Given the description of an element on the screen output the (x, y) to click on. 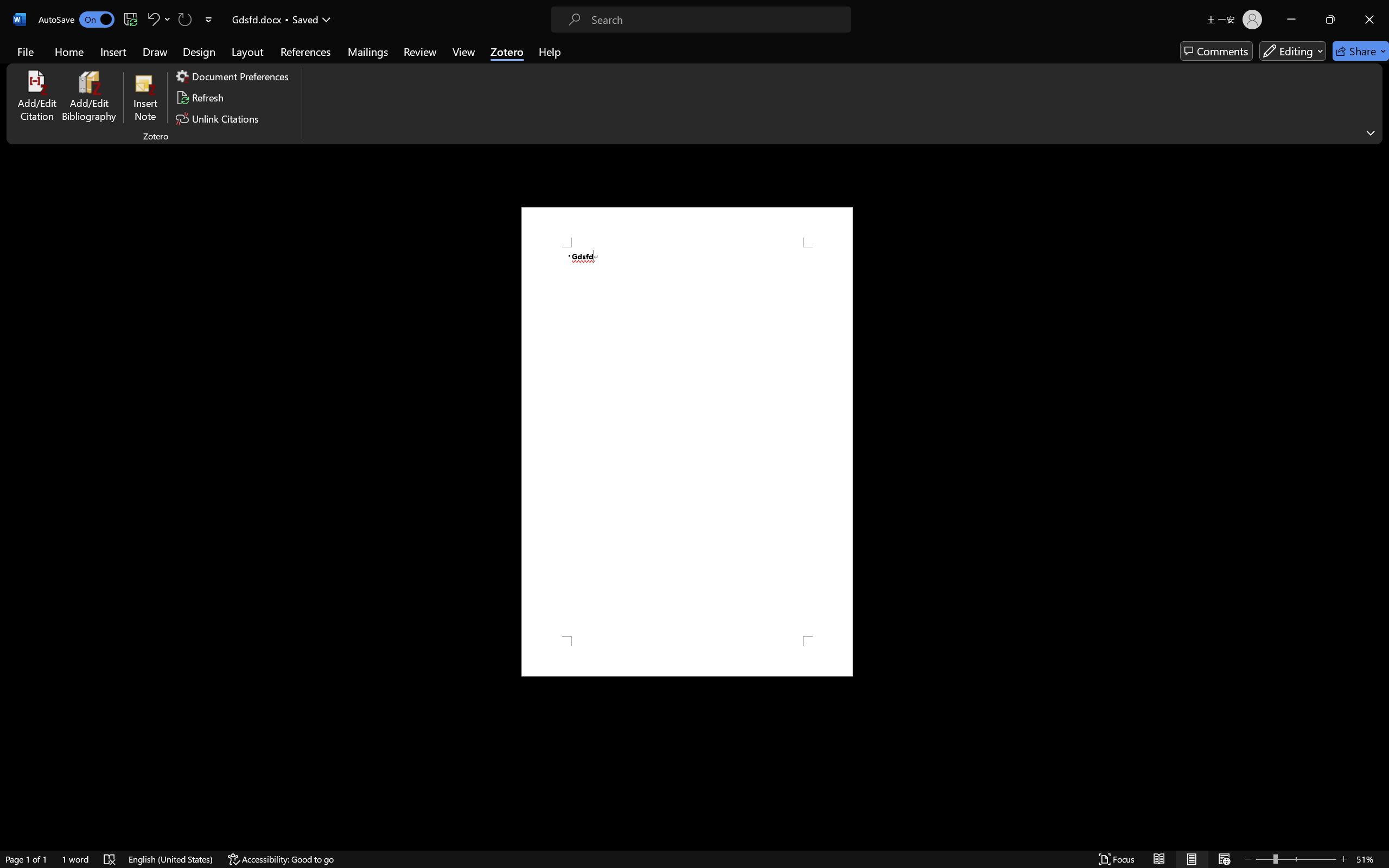
Page 1 content (686, 441)
